Given the description of an element on the screen output the (x, y) to click on. 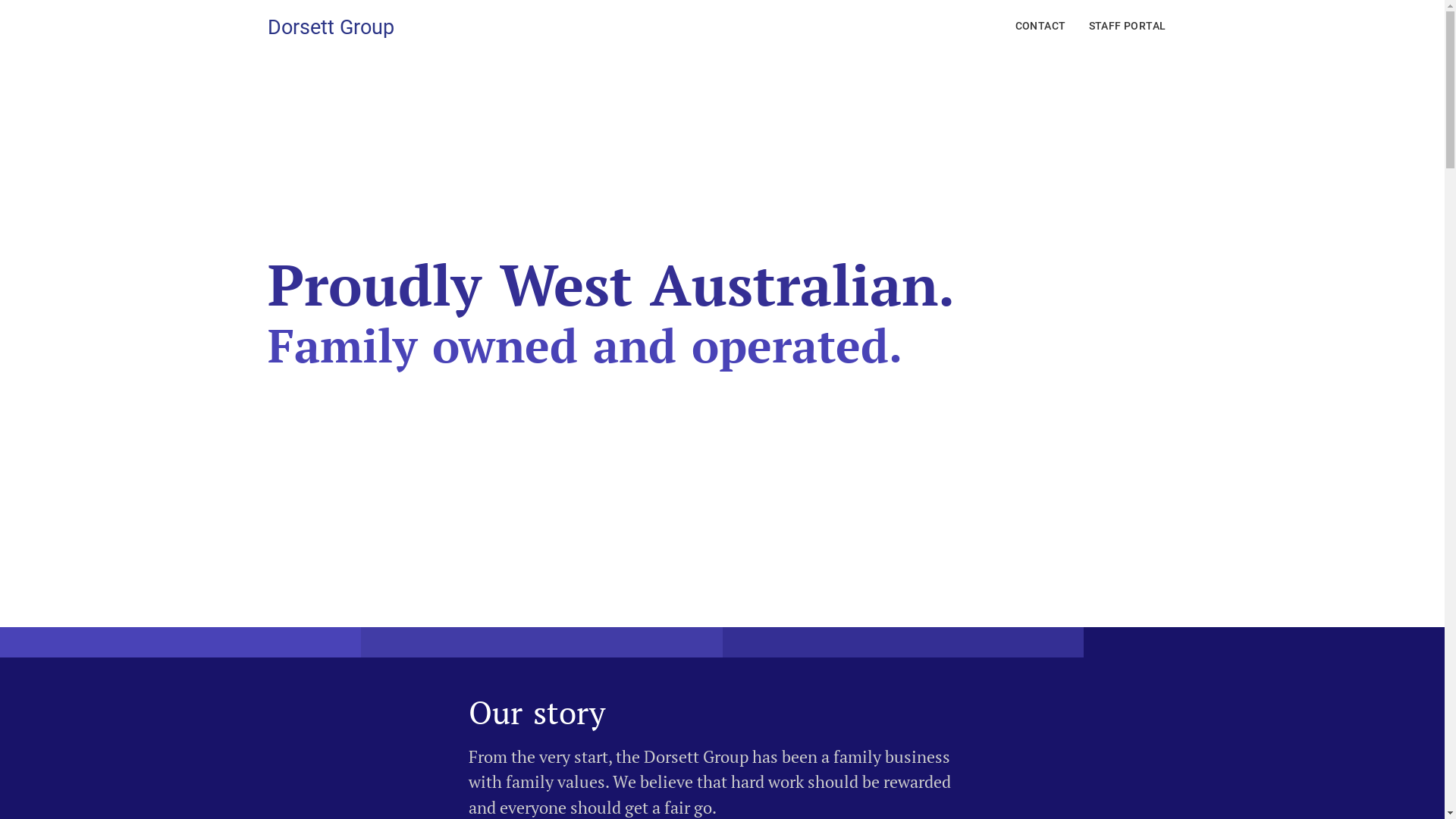
STAFF PORTAL Element type: text (1127, 26)
Dorsett Group Element type: text (329, 26)
CONTACT Element type: text (1040, 26)
